Given the description of an element on the screen output the (x, y) to click on. 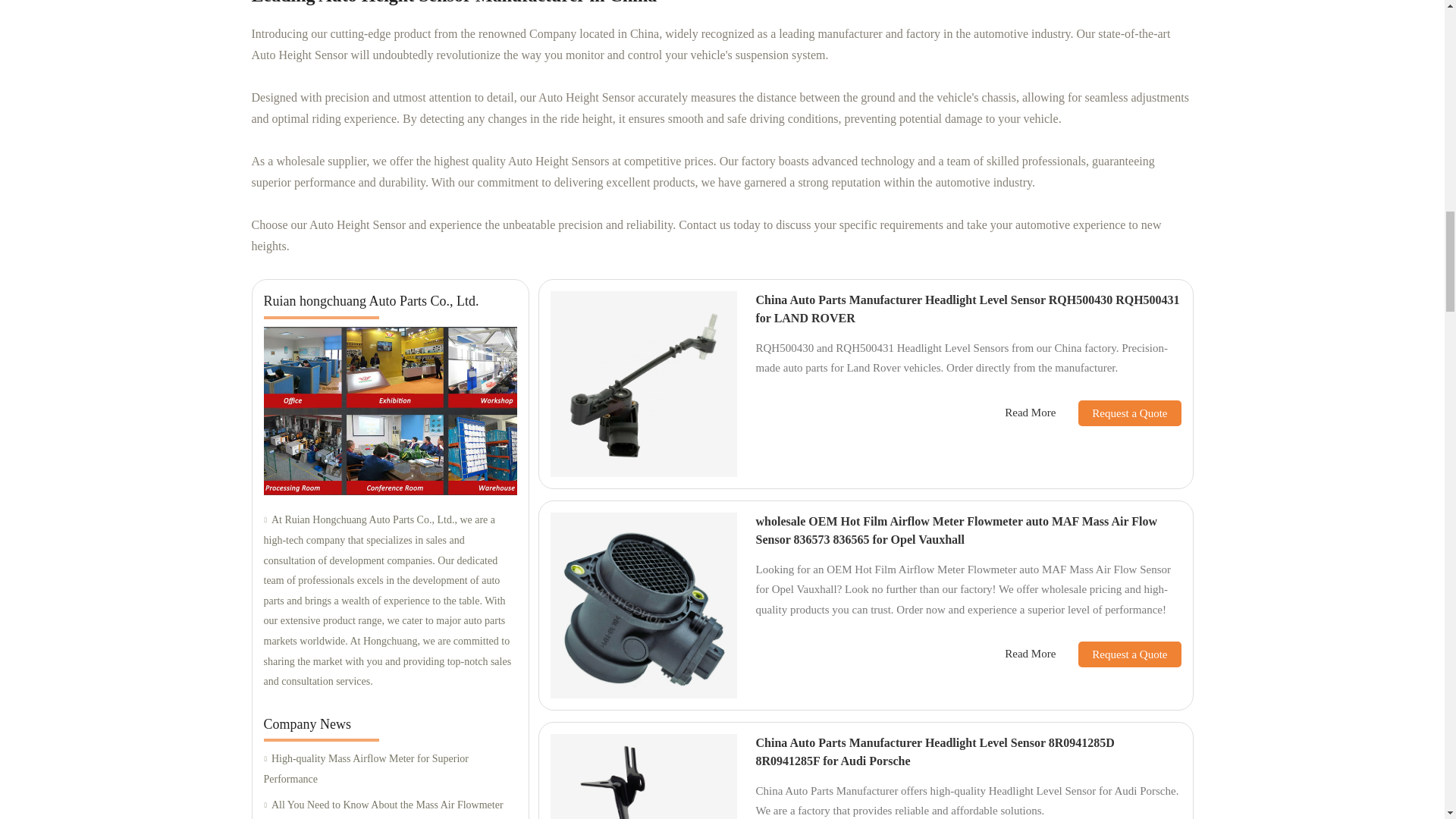
High-quality Mass Airflow Meter for Superior Performance (389, 769)
Request a Quote (1117, 412)
Read More (1029, 412)
